Given the description of an element on the screen output the (x, y) to click on. 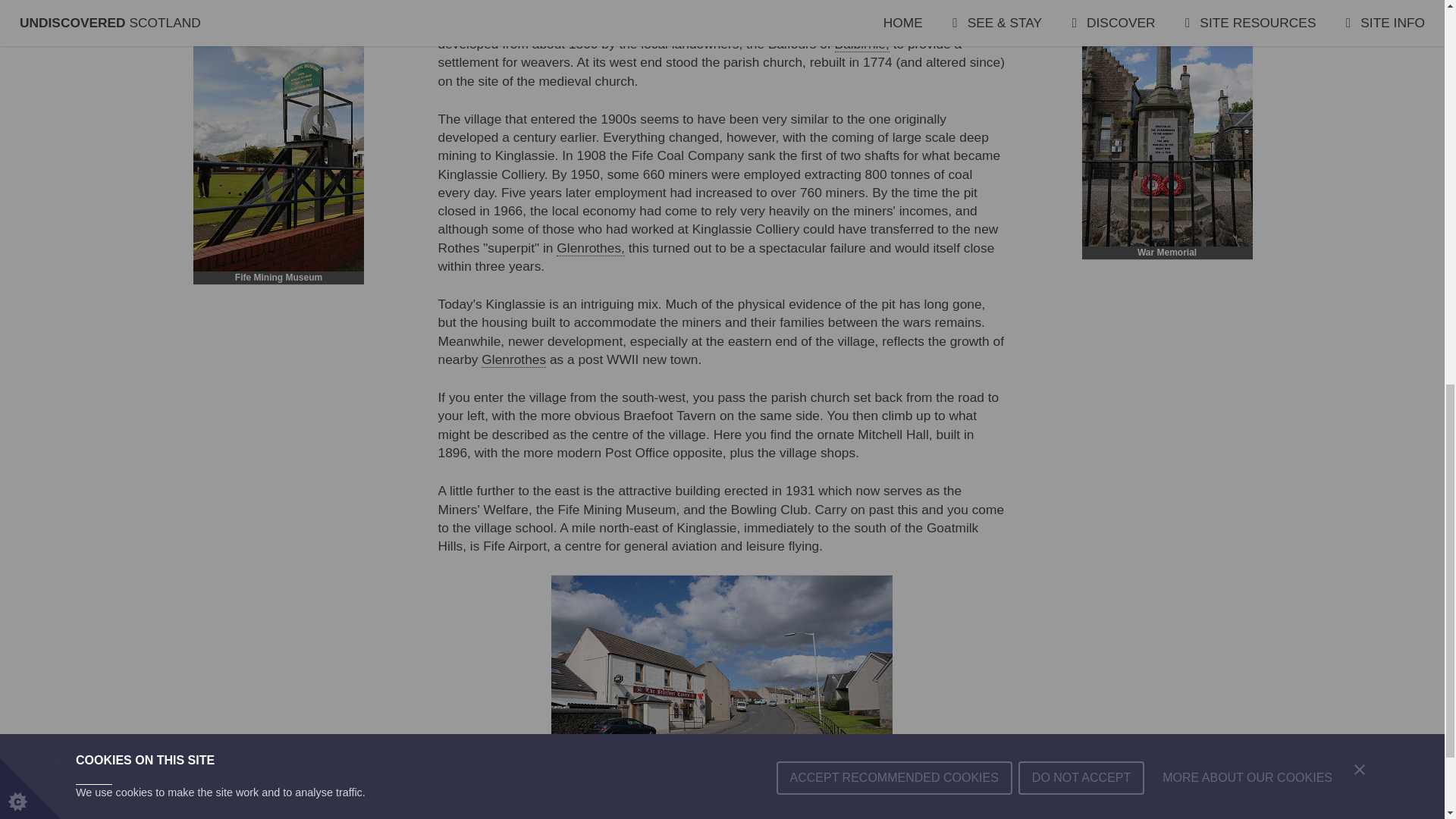
MORE ABOUT OUR COOKIES (1246, 12)
ACCEPT RECOMMENDED COOKIES (893, 32)
DO NOT ACCEPT (1080, 17)
